Given the description of an element on the screen output the (x, y) to click on. 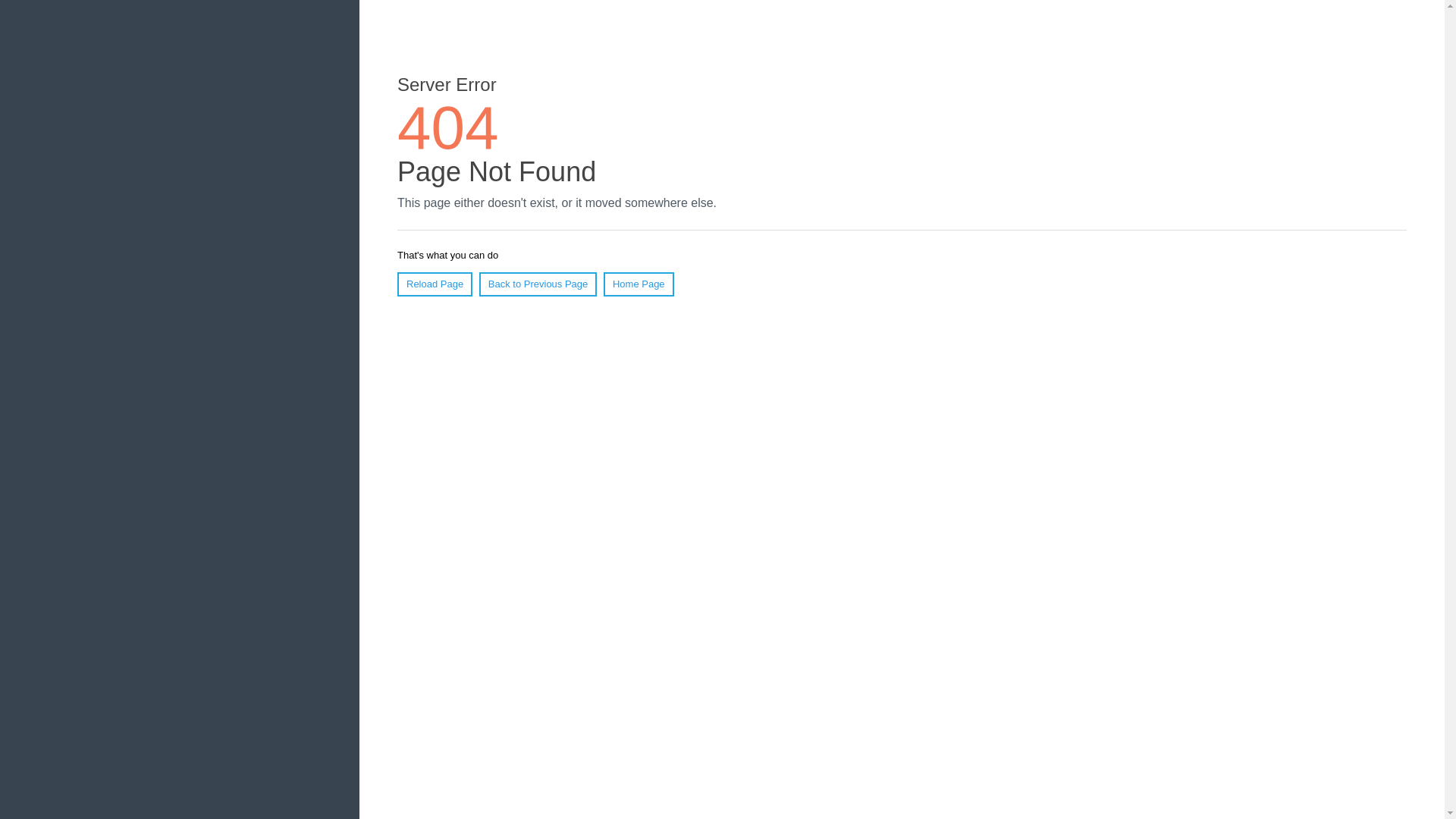
Back to Previous Page (537, 283)
Home Page (639, 283)
Reload Page (434, 283)
